Given the description of an element on the screen output the (x, y) to click on. 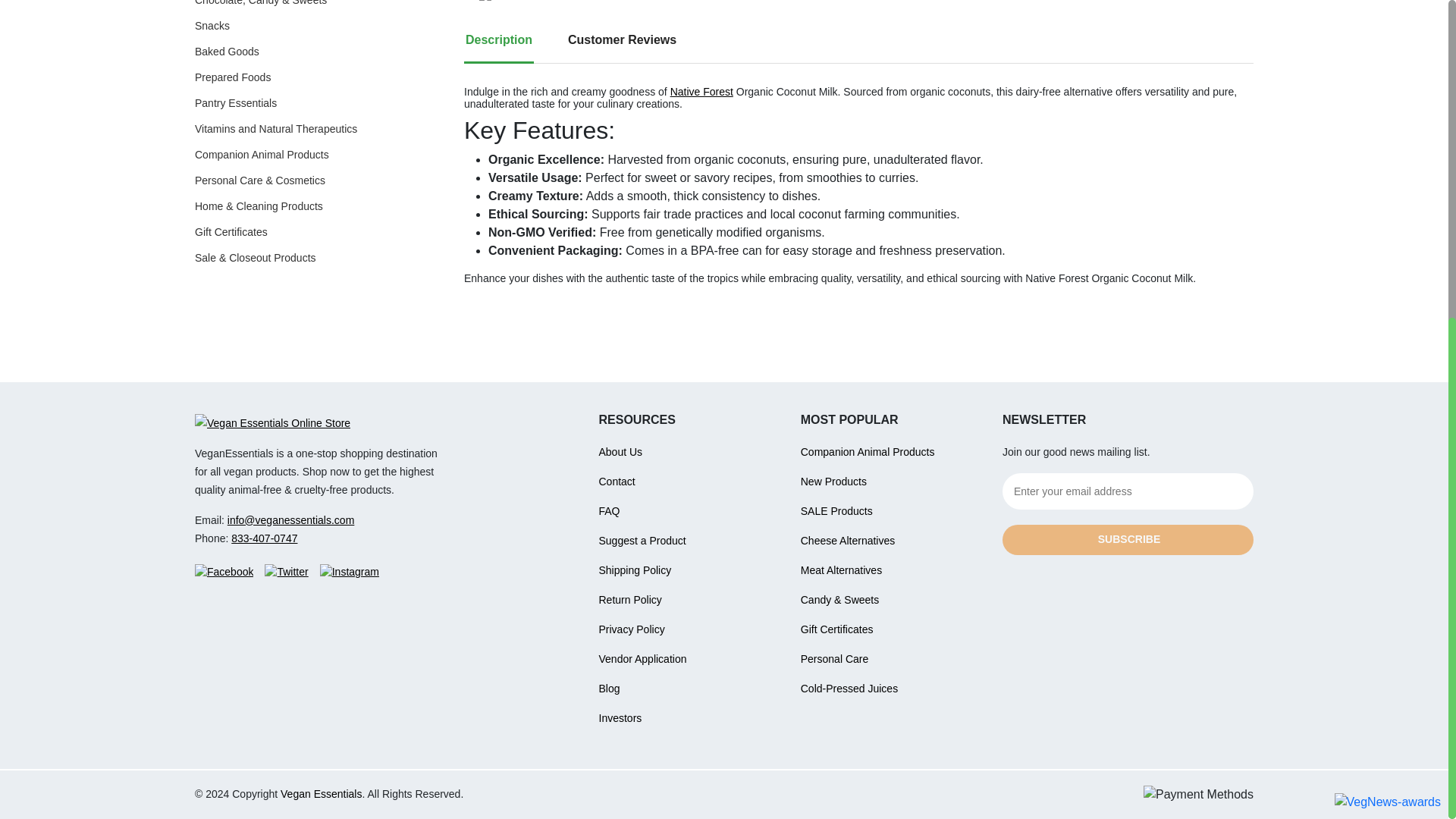
SUBSCRIBE (1128, 539)
